Given the description of an element on the screen output the (x, y) to click on. 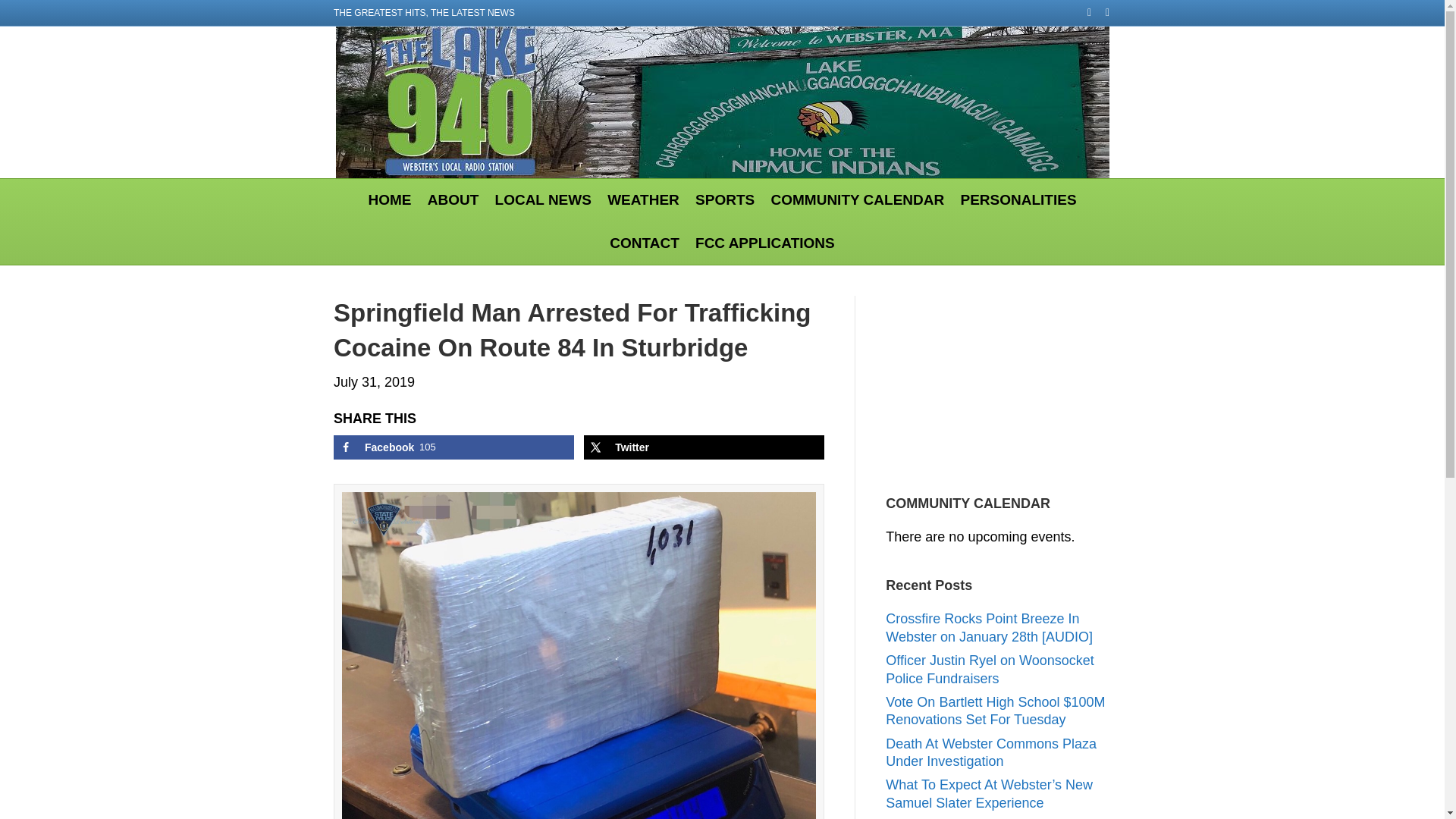
FCC APPLICATIONS (764, 243)
Share on X (703, 446)
Death At Webster Commons Plaza Under Investigation (990, 752)
Twitter (703, 446)
CONTACT (644, 243)
WEATHER (643, 200)
ABOUT (453, 200)
SPORTS (724, 200)
Officer Justin Ryel on Woonsocket Police Fundraisers (989, 668)
